Given the description of an element on the screen output the (x, y) to click on. 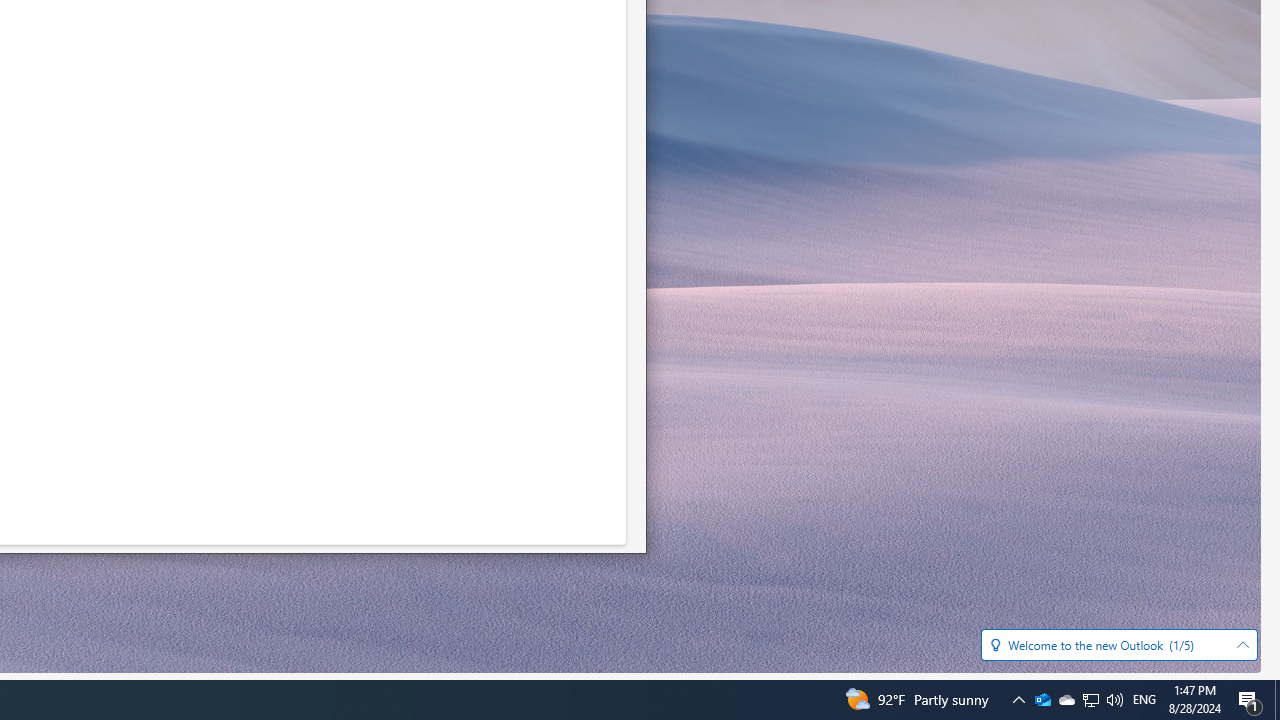
System Promoted Notification Area (1042, 699)
Tray Input Indicator - English (United States) (1144, 699)
Action Center, 1 new notification (1091, 699)
Open (1250, 699)
Q2790: 100% (1242, 645)
Microsoft Outlook (1114, 699)
Show desktop (1042, 699)
User Promoted Notification Area (1277, 699)
Notification Chevron (1090, 699)
